Given the description of an element on the screen output the (x, y) to click on. 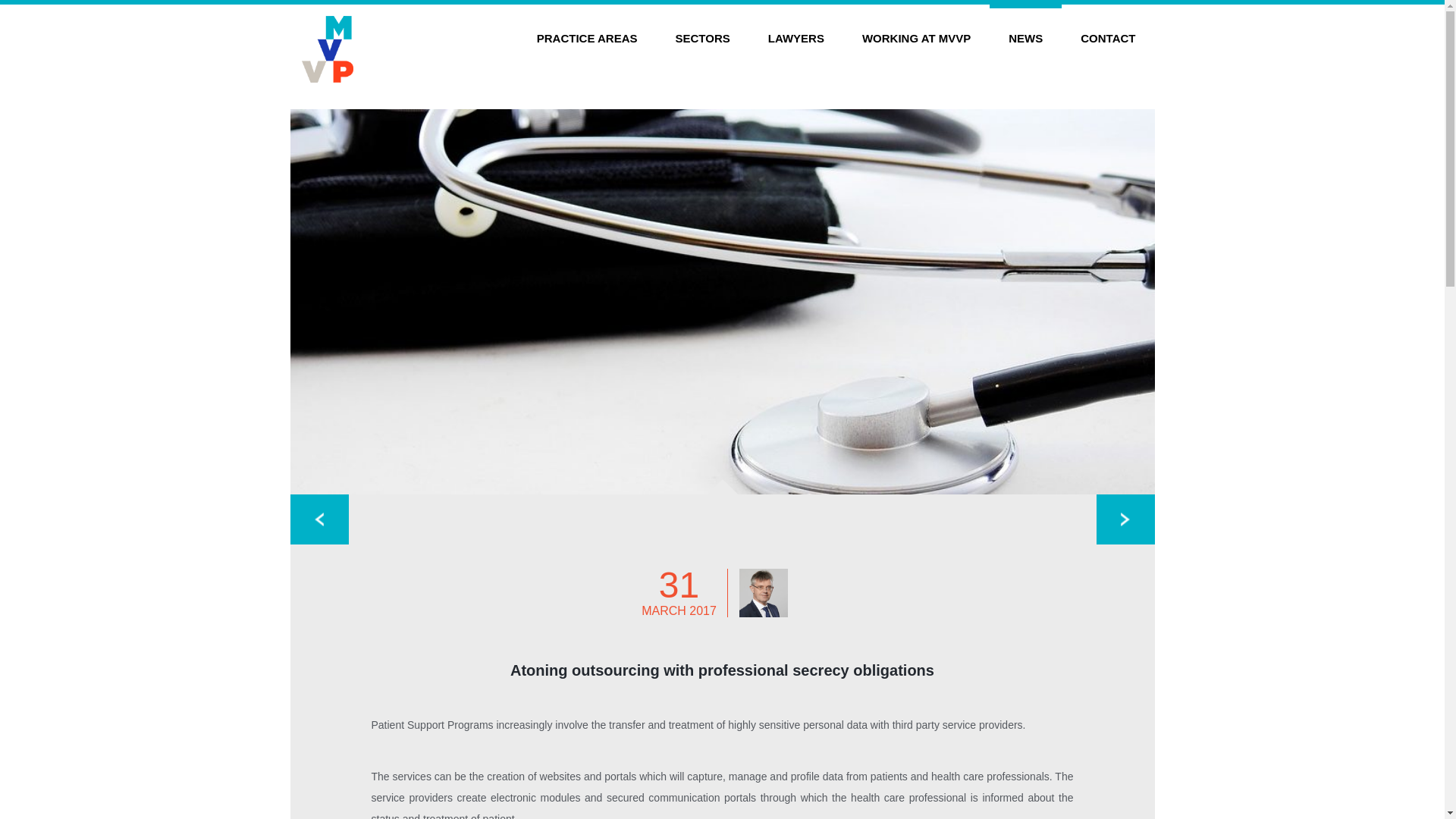
LAWYERS (796, 30)
WORKING AT MVVP (916, 30)
SECTORS (702, 30)
NEWS (1025, 30)
PRACTICE AREAS (587, 30)
CONTACT (1107, 30)
